Given the description of an element on the screen output the (x, y) to click on. 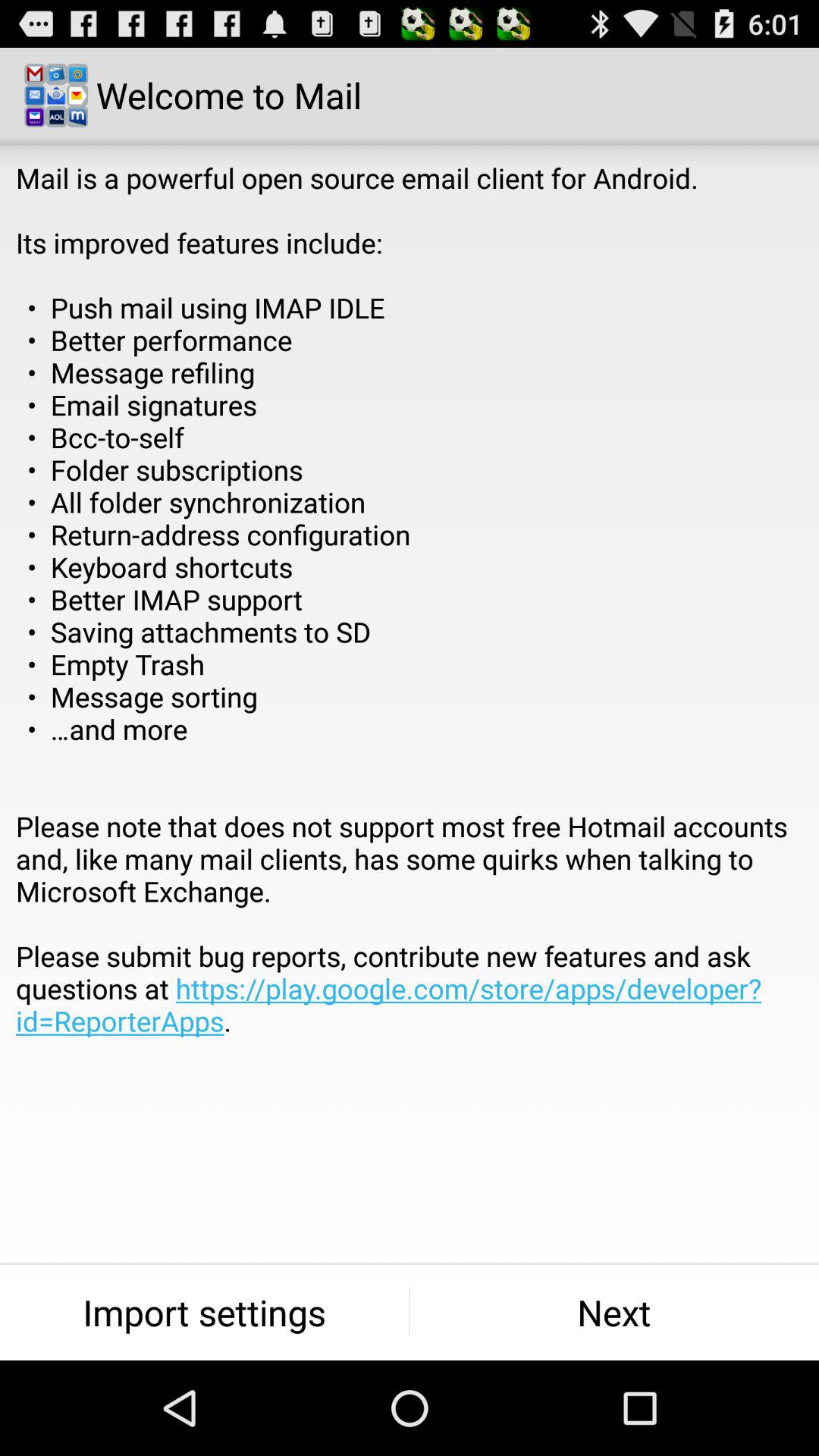
launch the next item (614, 1312)
